Given the description of an element on the screen output the (x, y) to click on. 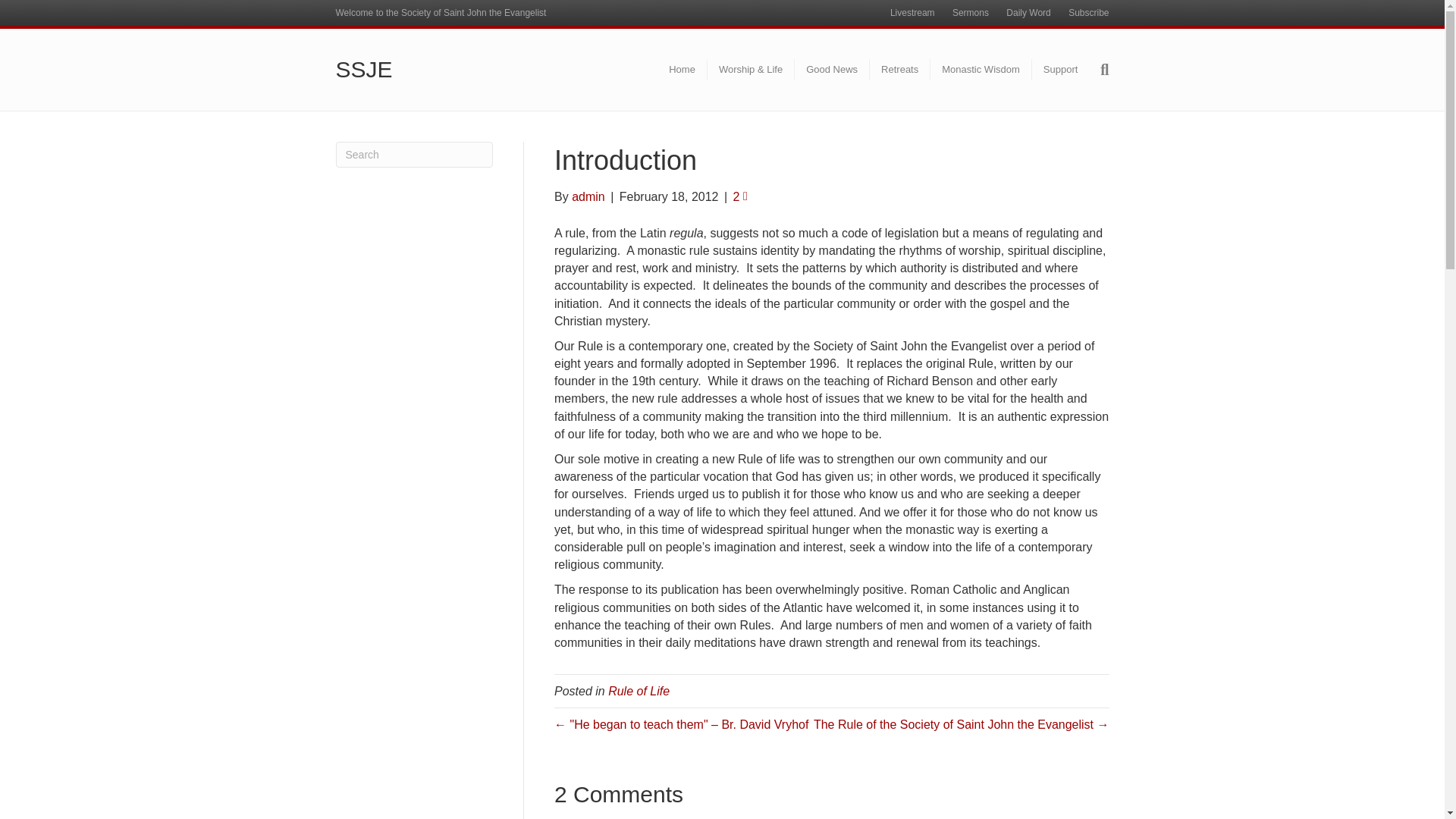
SSJE (457, 69)
Home (682, 69)
Retreats (899, 69)
Support (1060, 69)
Monastic Wisdom (981, 69)
Sermons (969, 13)
Type and press Enter to search. (413, 154)
Daily Word (1028, 13)
Good News (831, 69)
Subscribe (1088, 13)
Livestream (912, 13)
